Given the description of an element on the screen output the (x, y) to click on. 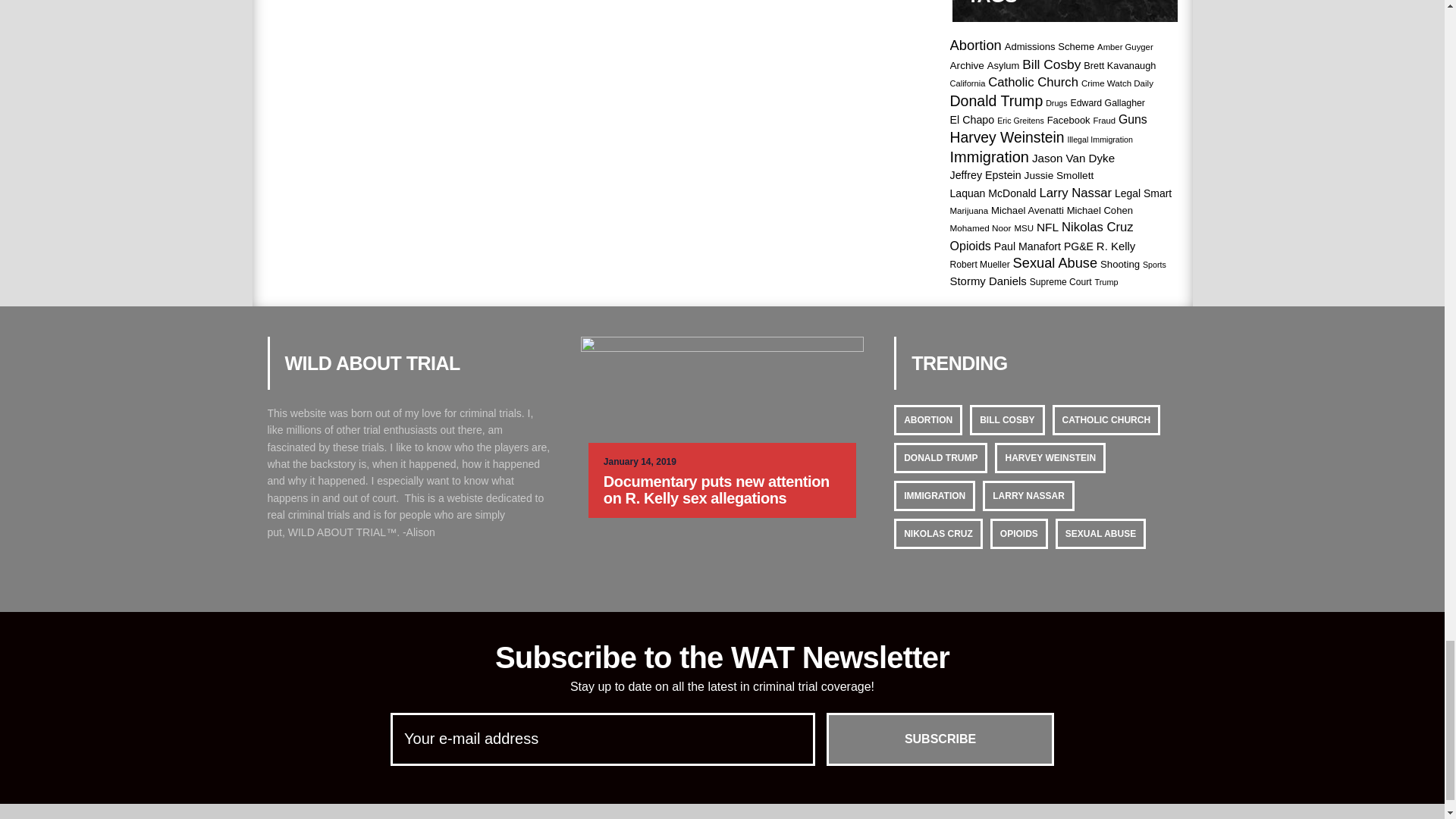
SUBSCRIBE (940, 738)
